Given the description of an element on the screen output the (x, y) to click on. 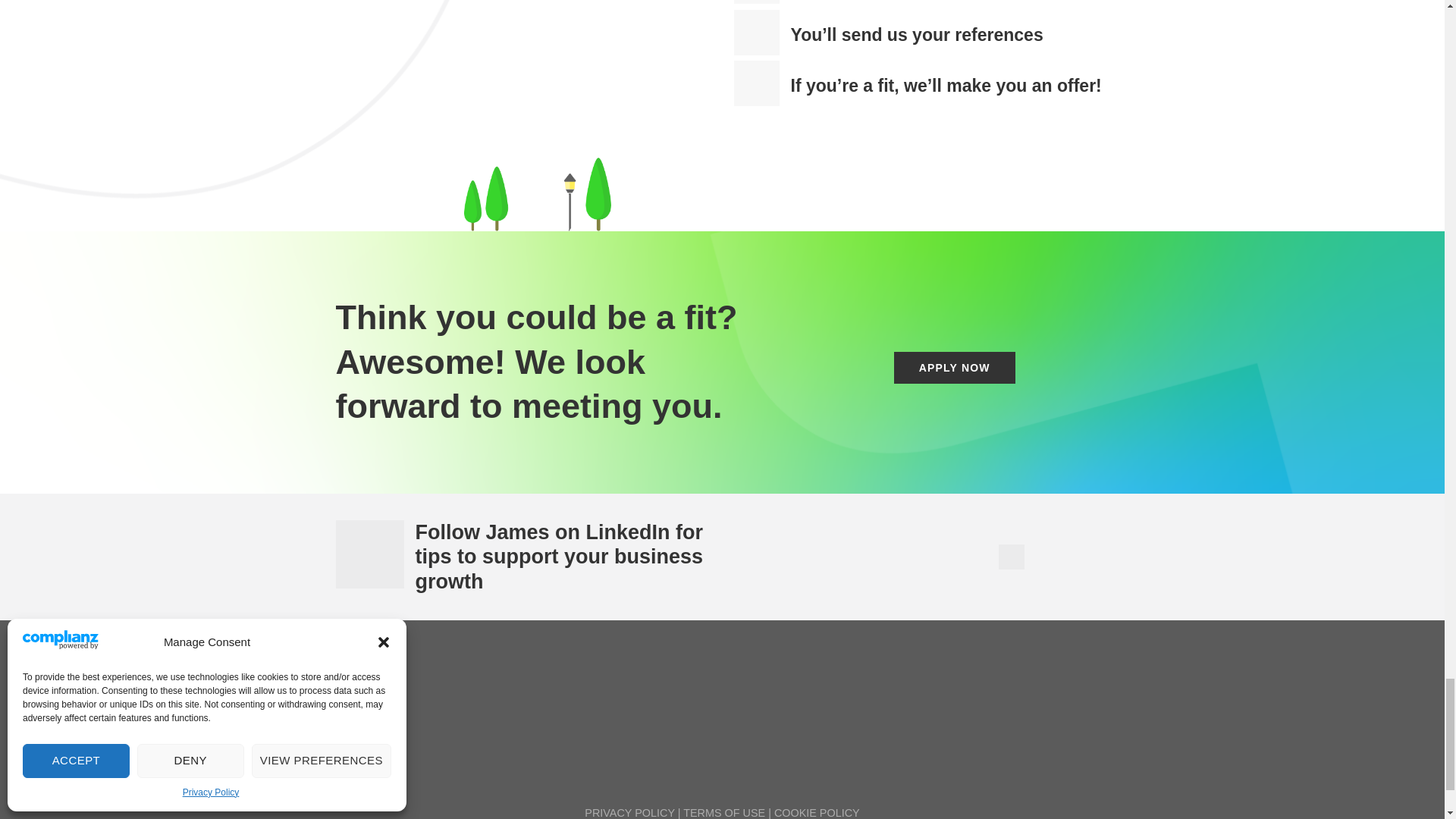
TERMS OF USE (723, 812)
read our cookie policy (817, 812)
PRIVACY POLICY (629, 812)
COOKIE POLICY (817, 812)
APPLY NOW (953, 368)
